Given the description of an element on the screen output the (x, y) to click on. 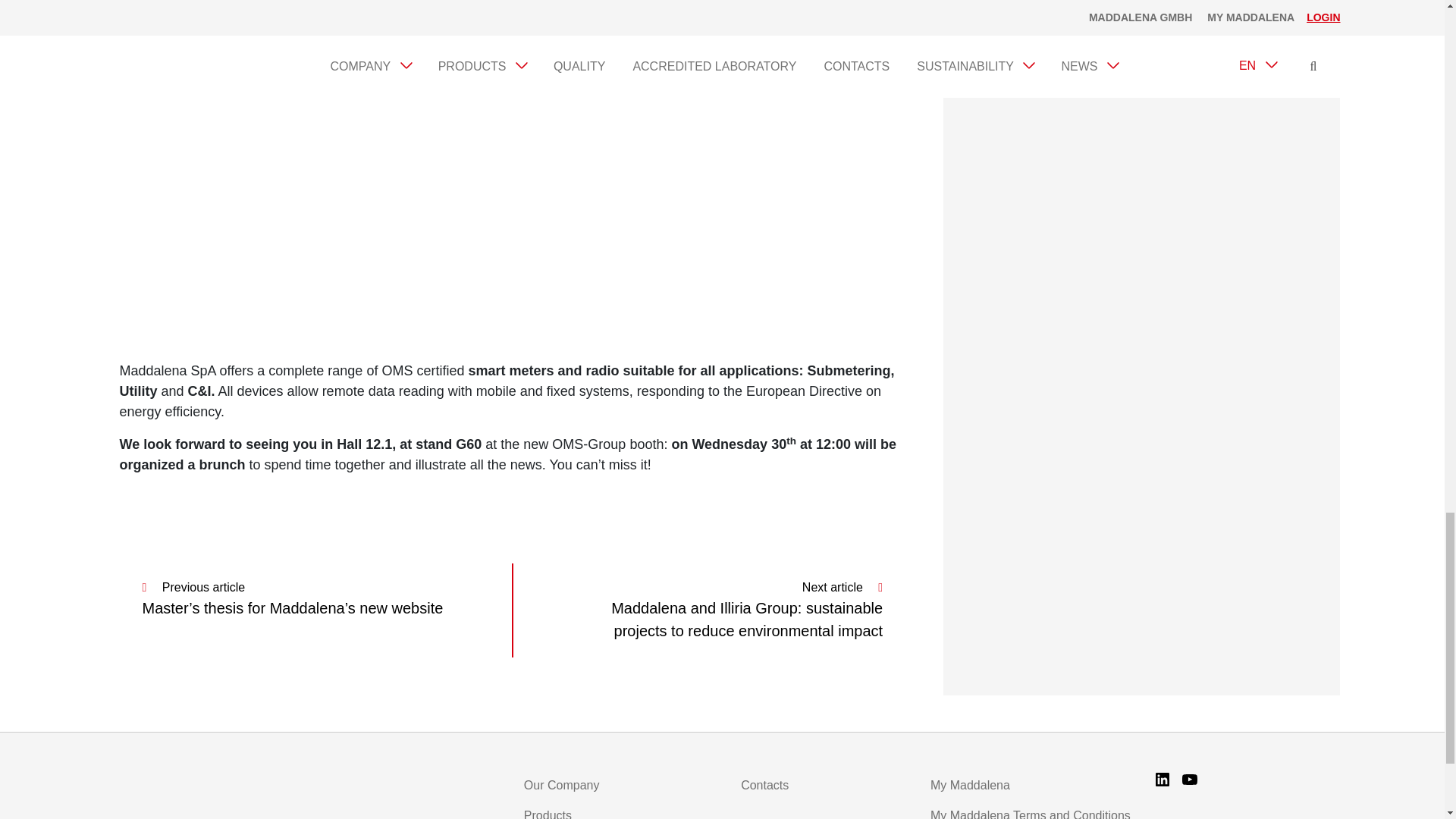
Vai alla homepage (208, 788)
